Given the description of an element on the screen output the (x, y) to click on. 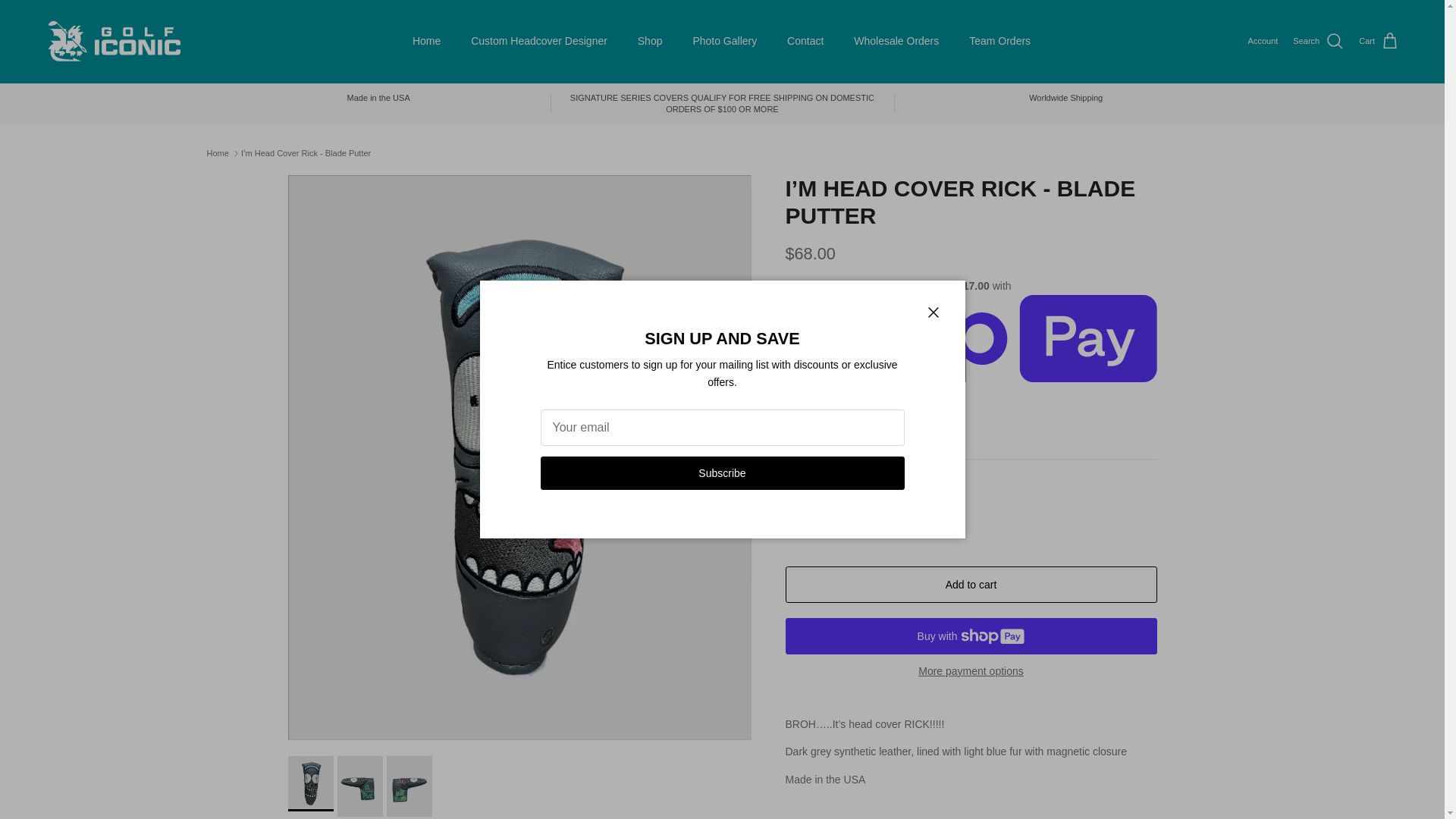
Contact (805, 41)
Cart (1378, 41)
Golf Iconic (113, 41)
1 (847, 517)
Wholesale Orders (896, 41)
Custom Headcover Designer (539, 41)
Photo Gallery (724, 41)
Account (1262, 41)
Team Orders (999, 41)
Home (426, 41)
Shop (650, 41)
Search (1317, 41)
